Given the description of an element on the screen output the (x, y) to click on. 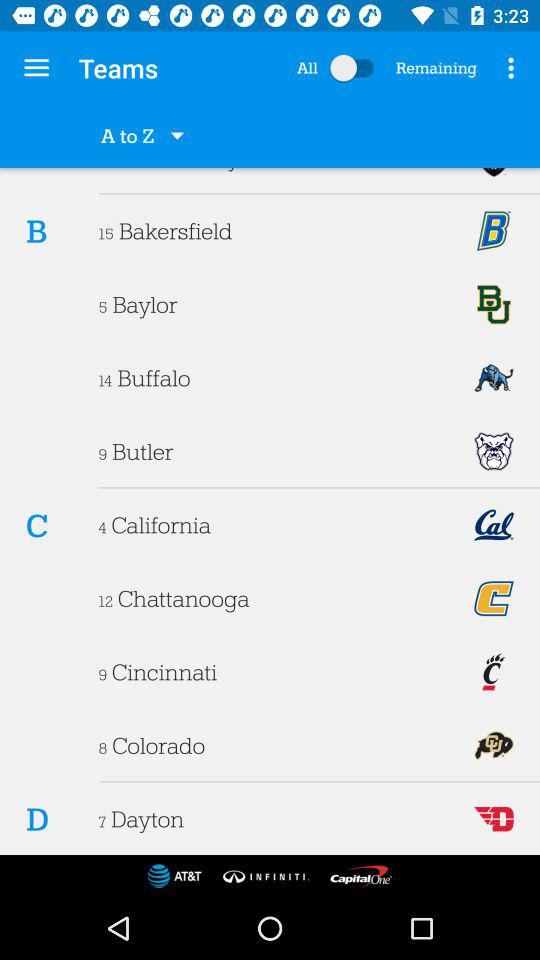
push for selec all (356, 67)
